Given the description of an element on the screen output the (x, y) to click on. 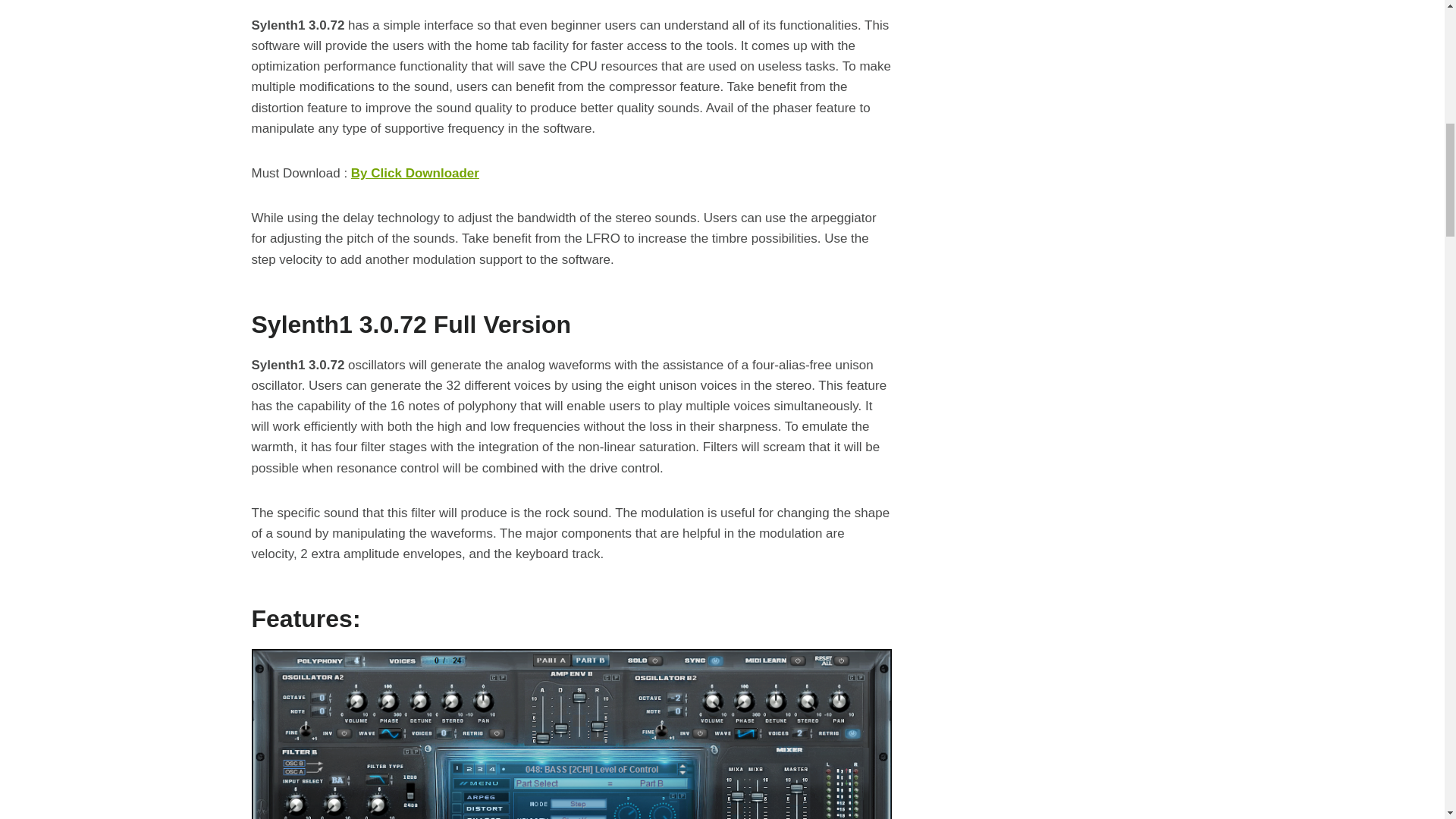
By Click Downloader (414, 173)
